Given the description of an element on the screen output the (x, y) to click on. 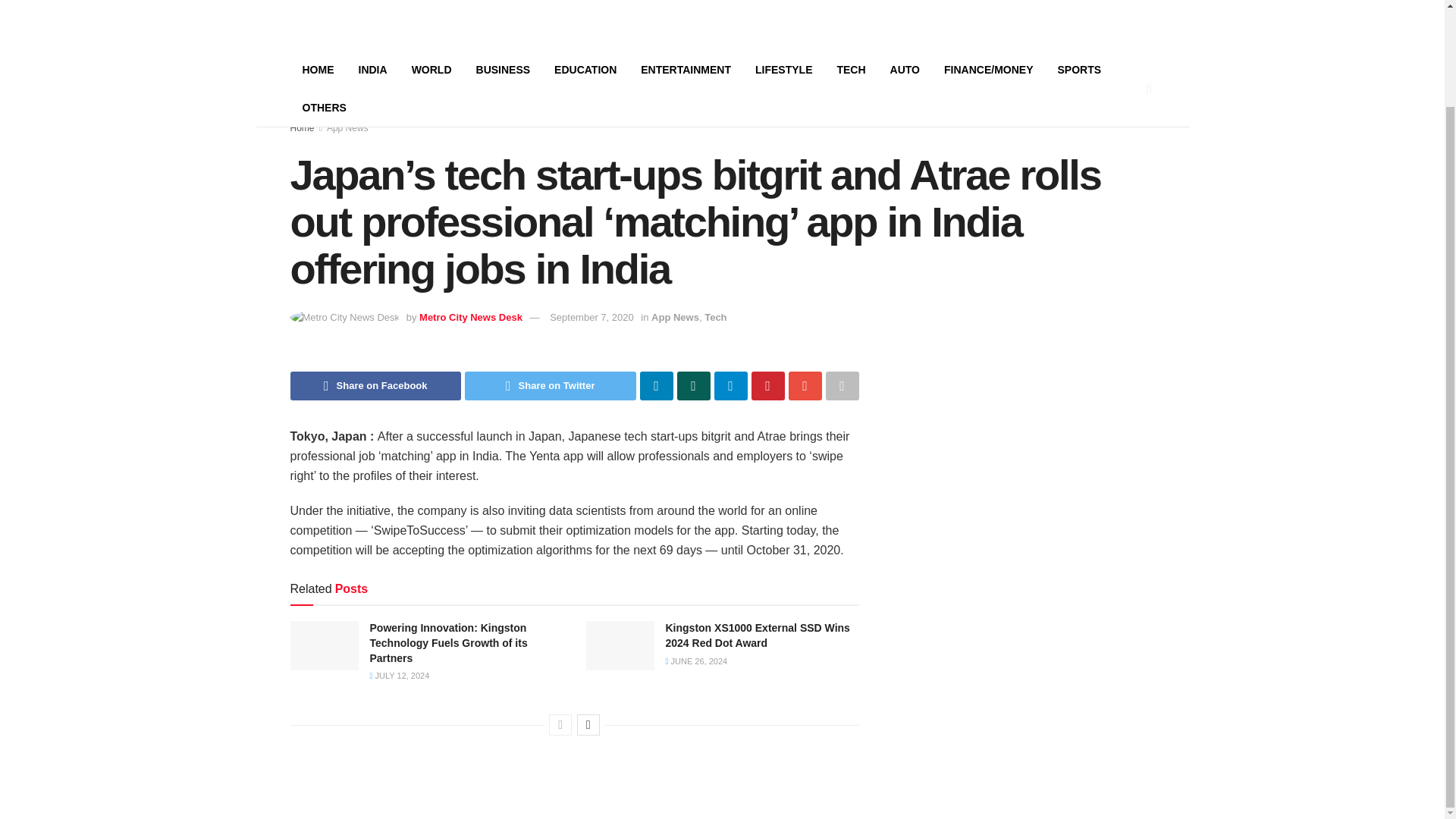
SPORTS (1079, 69)
EDUCATION (584, 69)
BUSINESS (503, 69)
LIFESTYLE (783, 69)
INDIA (372, 69)
ENTERTAINMENT (685, 69)
TECH (850, 69)
OTHERS (323, 107)
WORLD (431, 69)
HOME (317, 69)
Next (587, 724)
AUTO (904, 69)
Previous (560, 724)
